Given the description of an element on the screen output the (x, y) to click on. 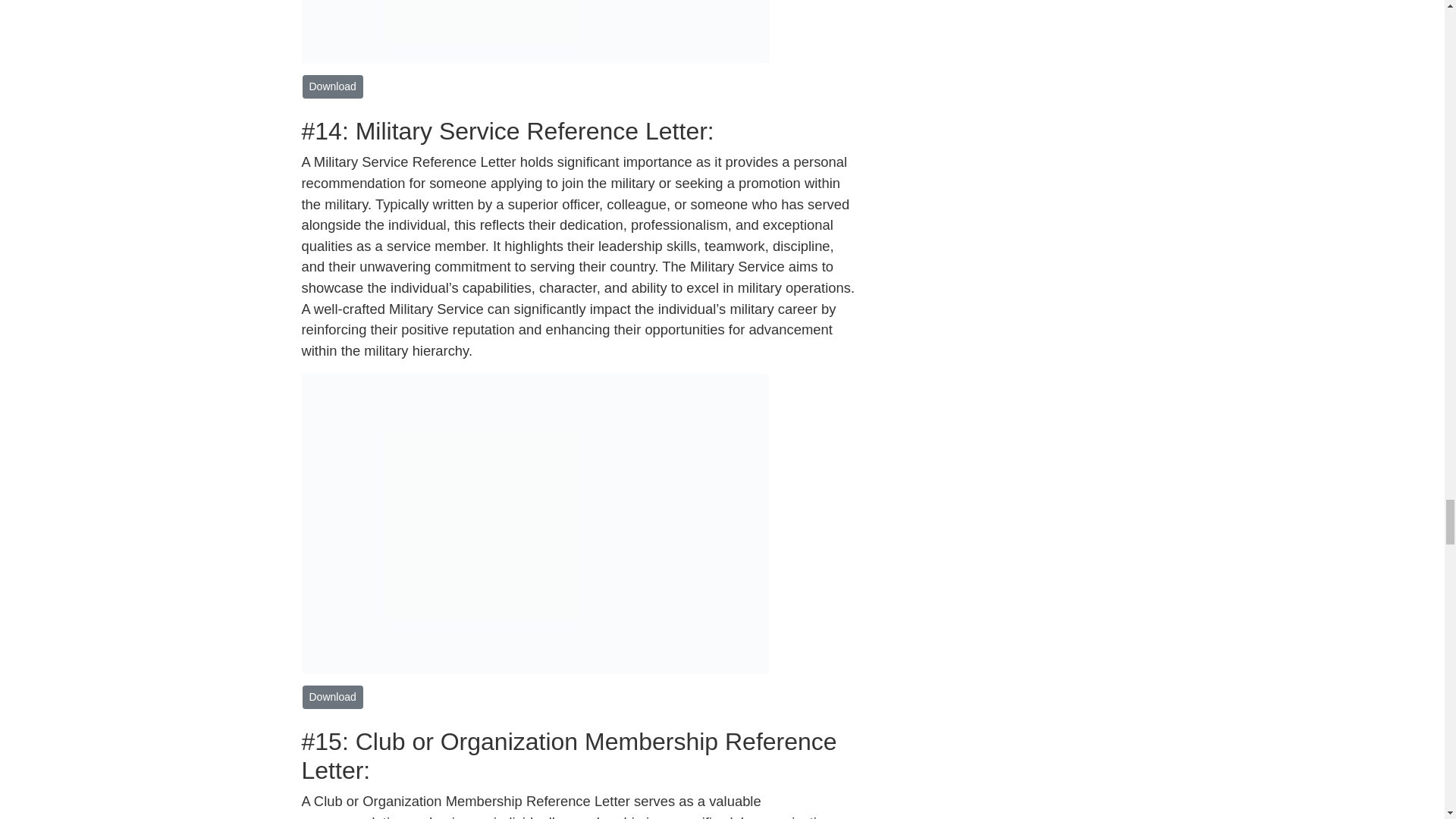
Download (331, 697)
Download (331, 86)
